Given the description of an element on the screen output the (x, y) to click on. 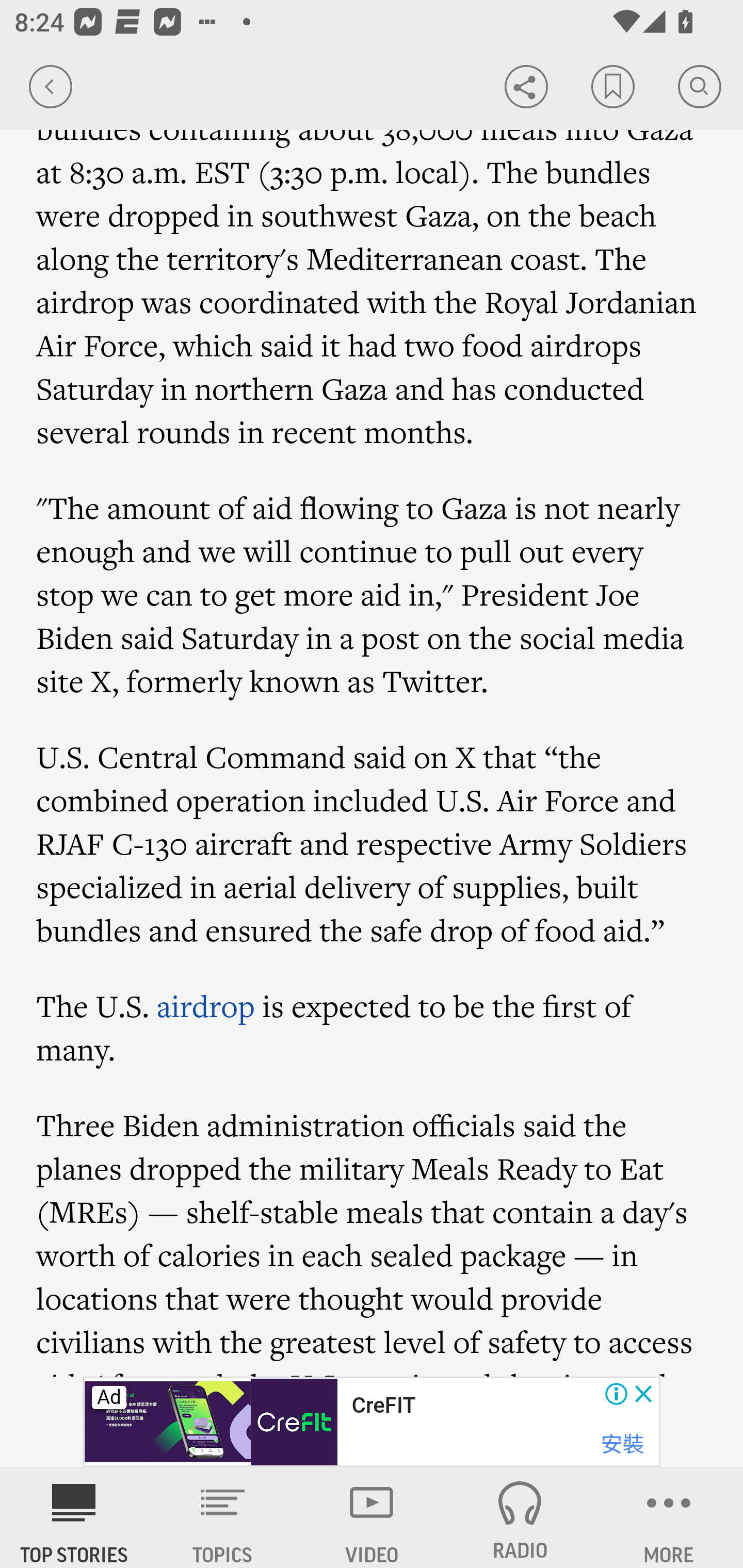
airdrop (205, 1006)
CreFIT (382, 1405)
安裝 (621, 1444)
AP News TOP STORIES (74, 1517)
TOPICS (222, 1517)
VIDEO (371, 1517)
RADIO (519, 1517)
MORE (668, 1517)
